Given the description of an element on the screen output the (x, y) to click on. 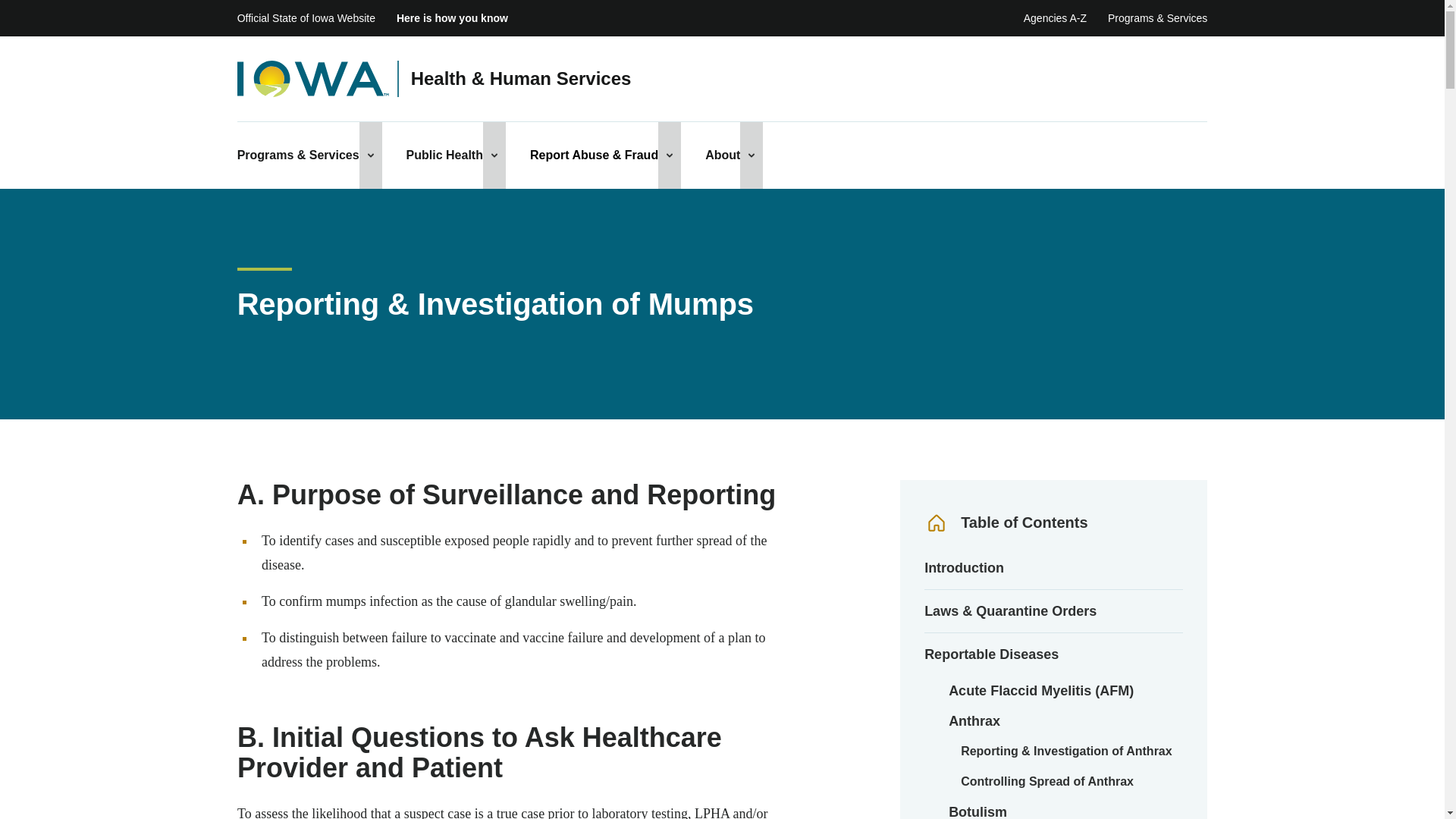
Agencies A-Z (1054, 18)
Here is how you know (452, 18)
